Given the description of an element on the screen output the (x, y) to click on. 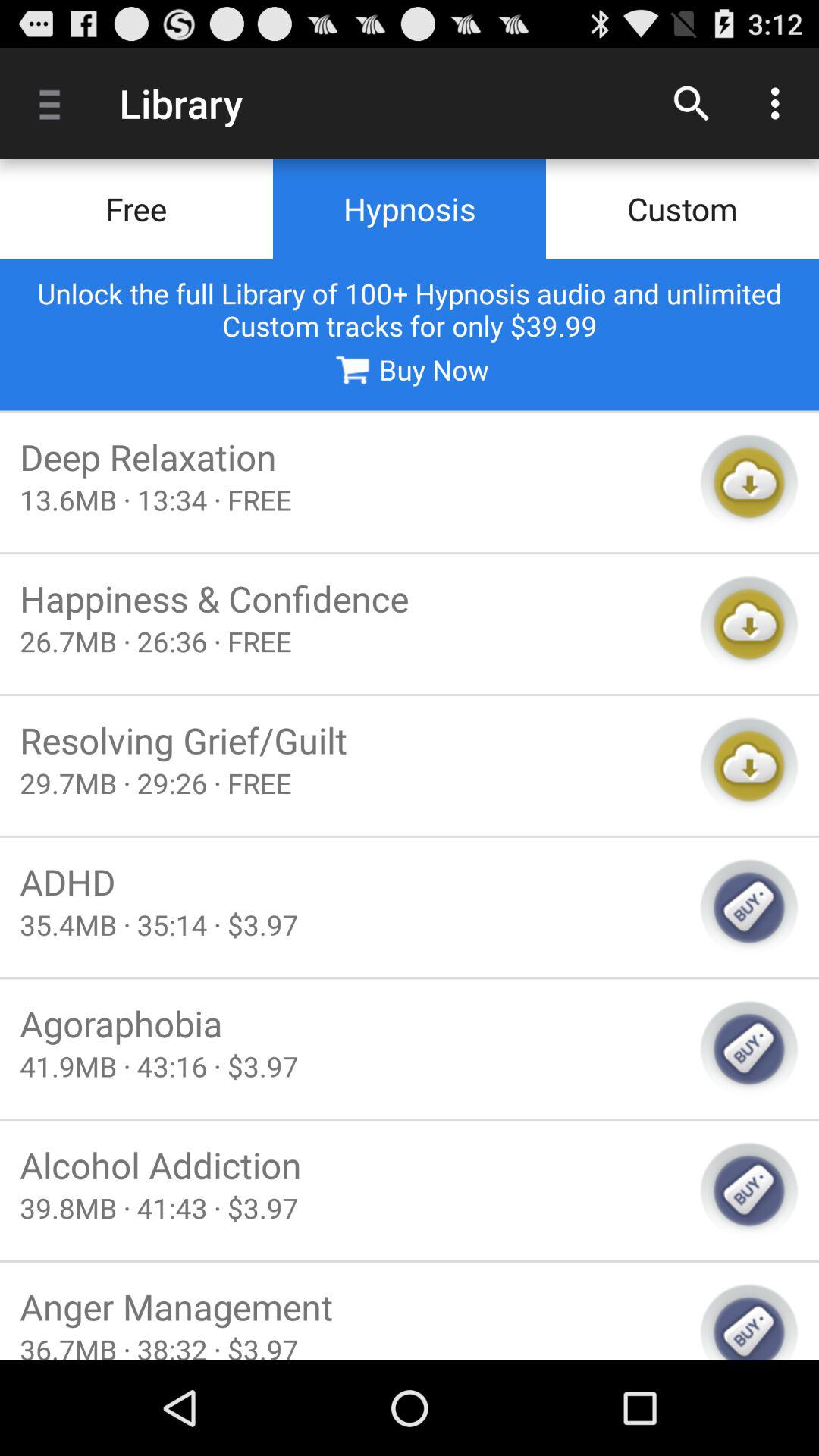
jump to the alcohol addiction (349, 1164)
